Given the description of an element on the screen output the (x, y) to click on. 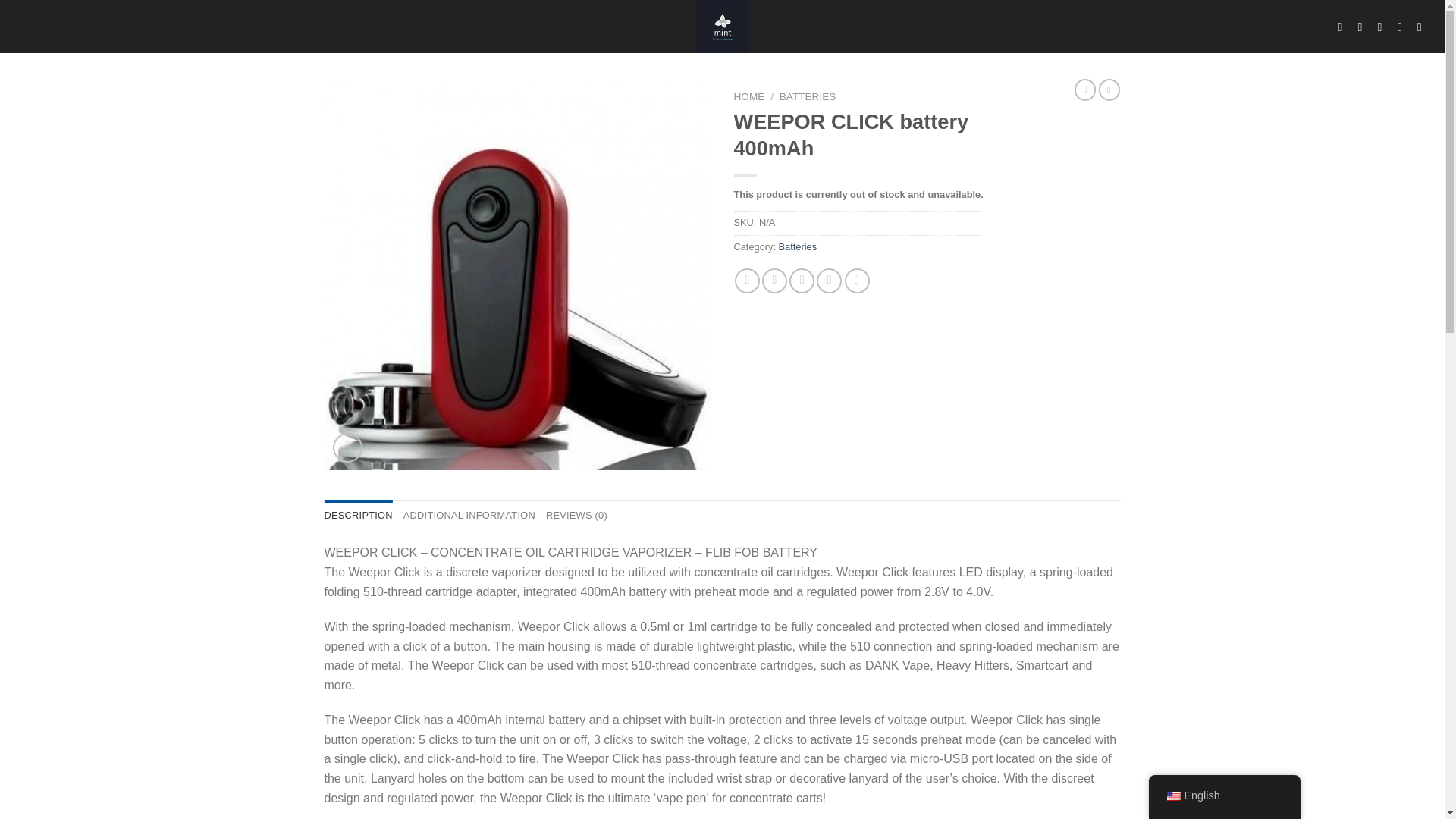
HOME (749, 96)
Zoom (347, 447)
BATTERIES (806, 96)
Pin on Pinterest (828, 280)
ADDITIONAL INFORMATION (469, 515)
Email to a Friend (801, 280)
DESCRIPTION (358, 515)
Follow on SnapChat (1383, 26)
Share on Facebook (747, 280)
Batteries (797, 246)
